Given the description of an element on the screen output the (x, y) to click on. 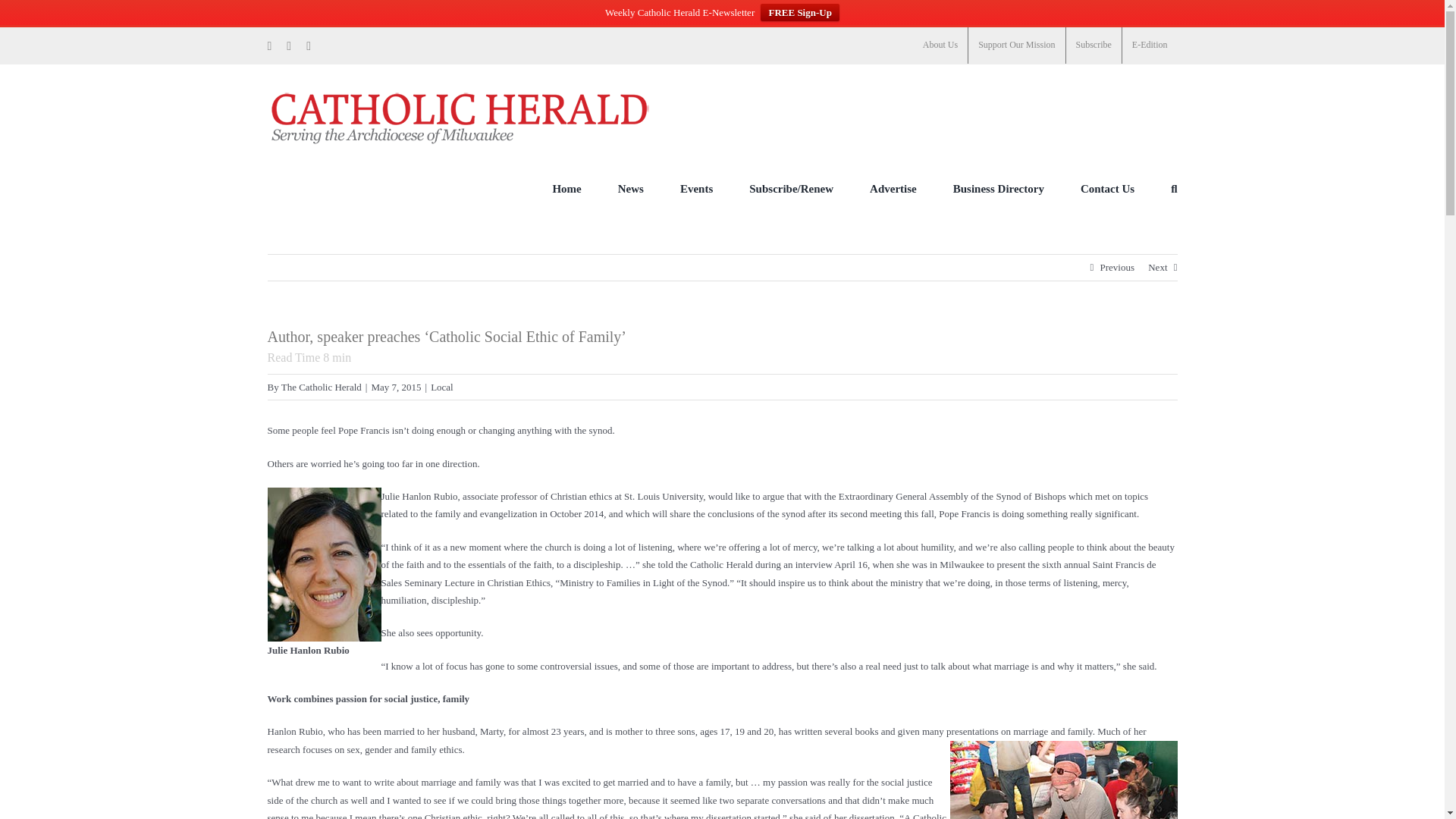
FREE Sign-Up (799, 12)
Advertise (893, 188)
Subscribe (1093, 45)
Support Our Mission (1016, 45)
Business Directory (998, 188)
About Us (940, 45)
Posts by The Catholic Herald (321, 387)
E-Edition (1149, 45)
Contact Us (1107, 188)
